Given the description of an element on the screen output the (x, y) to click on. 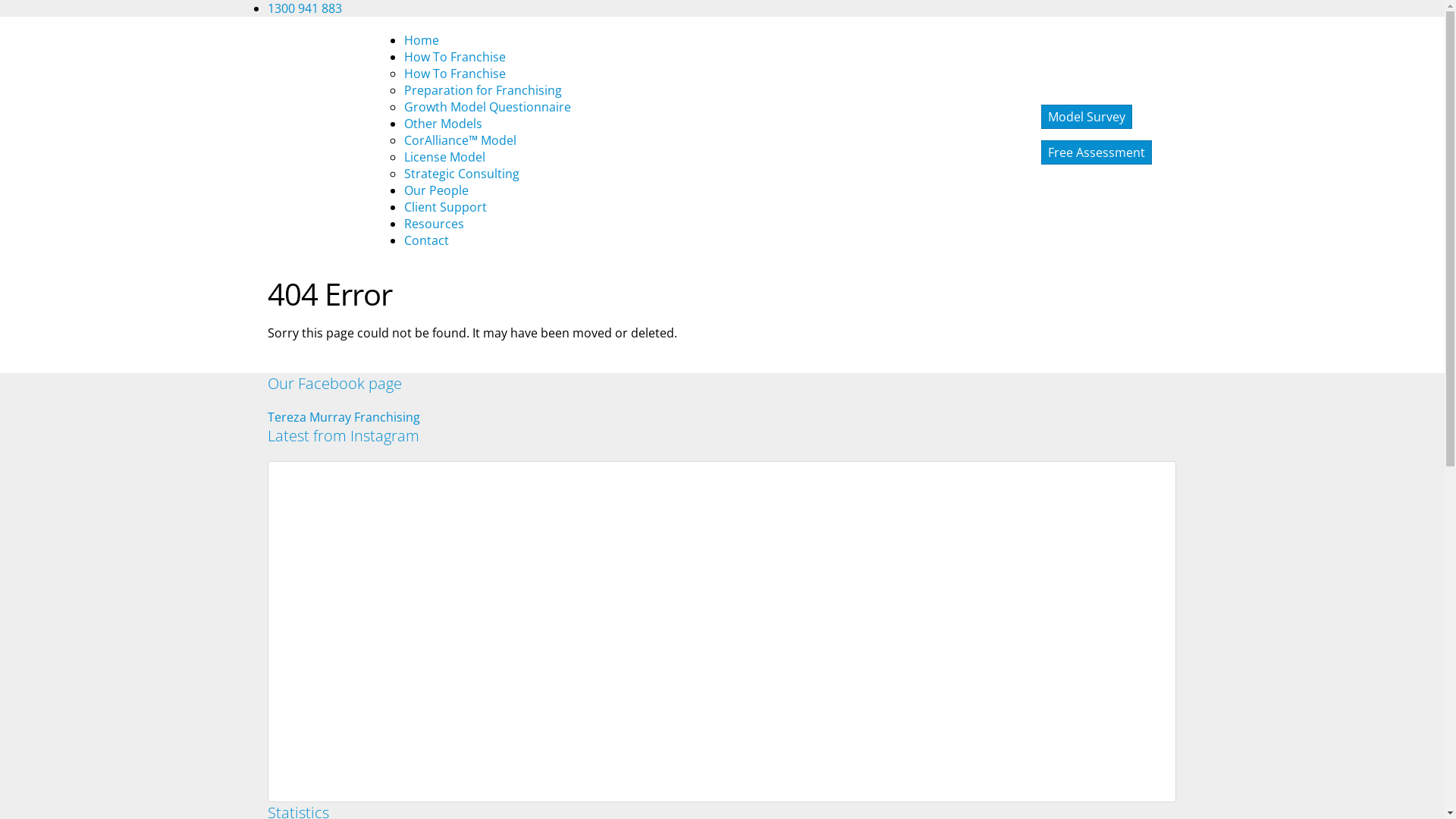
1300 941 883 Element type: text (303, 8)
Strategic Consulting Element type: text (460, 173)
License Model Element type: text (443, 156)
Model Survey Element type: text (1085, 116)
Other Models Element type: text (442, 123)
Growth Model Questionnaire Element type: text (486, 106)
Home Element type: text (420, 39)
Our People Element type: text (435, 190)
Contact Element type: text (425, 240)
Client Support Element type: text (444, 206)
Resources Element type: text (433, 223)
Tereza Murray Franchising Element type: text (334, 139)
Free Assessment Element type: text (1095, 152)
How To Franchise Element type: text (454, 56)
Tereza Murray Franchising Element type: text (342, 416)
How To Franchise Element type: text (454, 73)
Preparation for Franchising Element type: text (482, 89)
